Given the description of an element on the screen output the (x, y) to click on. 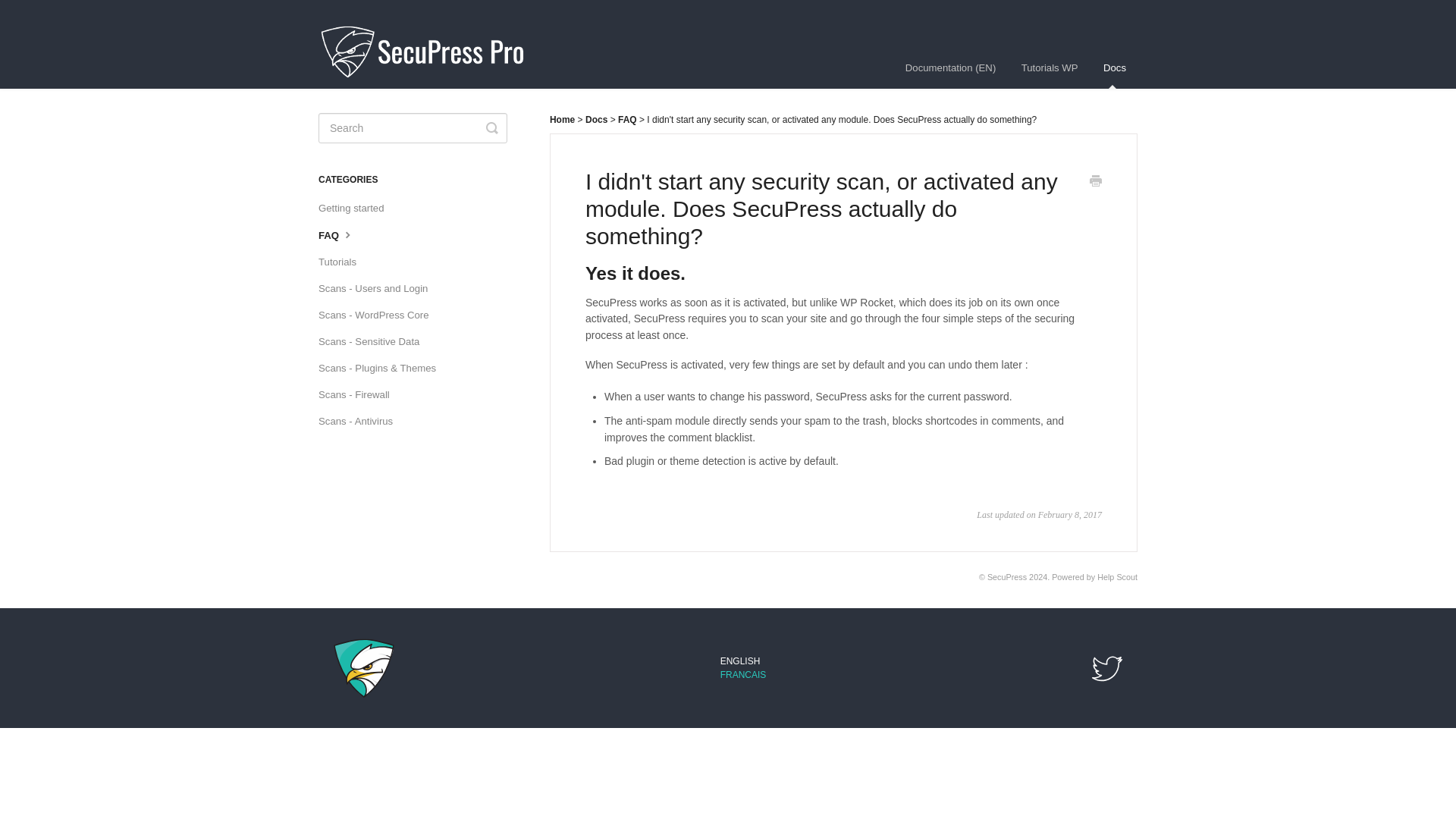
Tutorials (343, 262)
Docs (597, 119)
FRANCAIS (743, 674)
FAQ (342, 235)
search-query (412, 128)
Scans - Firewall (359, 395)
Help Scout (1117, 576)
Tutorials WP (1049, 67)
SecuPress (1006, 576)
Home (562, 119)
